Given the description of an element on the screen output the (x, y) to click on. 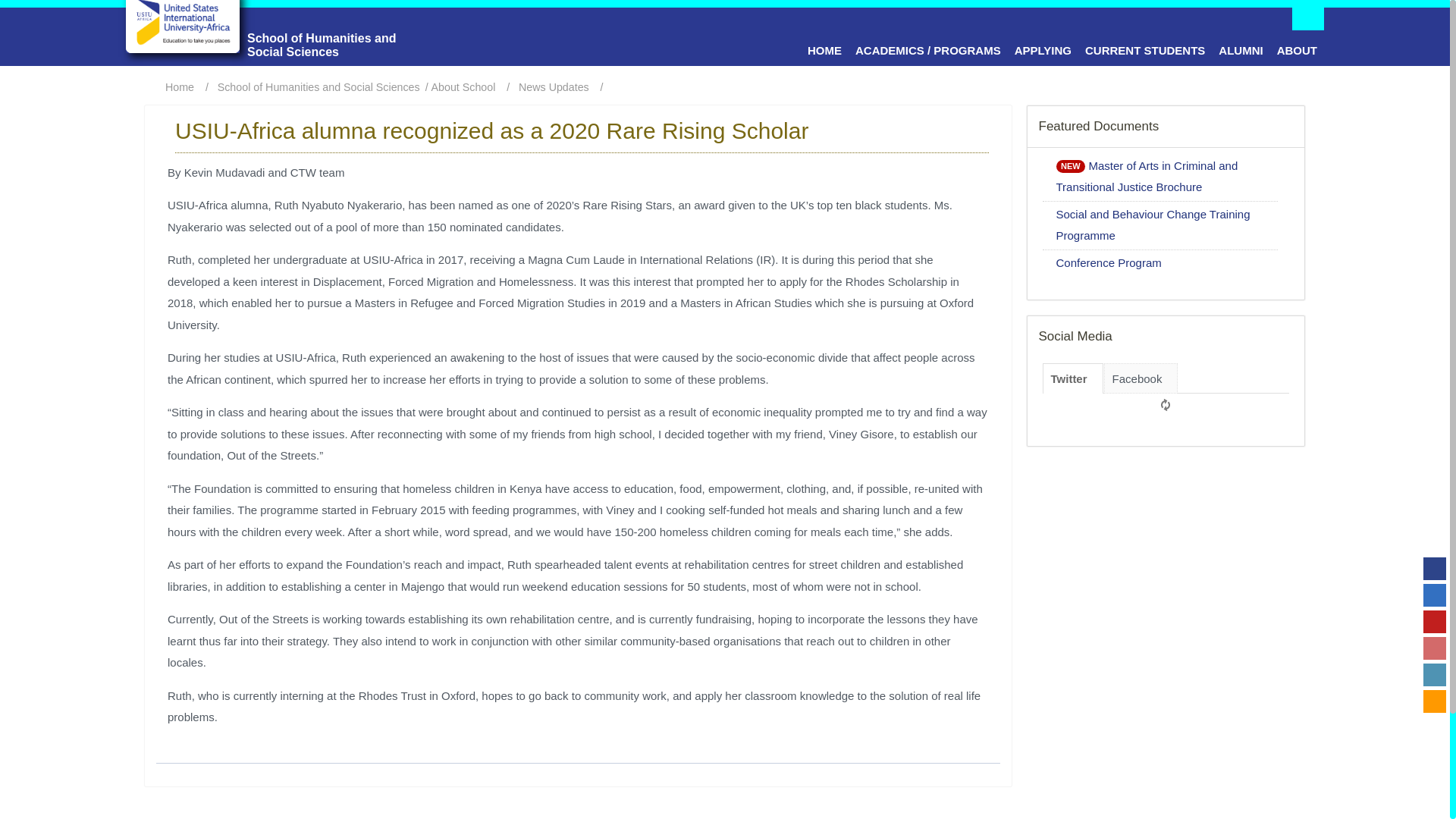
Facebook (1434, 568)
CURRENT STUDENTS (1144, 50)
LinkedIn (1434, 674)
HOME (824, 50)
X (1434, 594)
School of Humanities and Social Sciences (275, 34)
Instagram (1434, 648)
ALUMNI (1240, 50)
Search (1308, 5)
Talk to us (1434, 701)
